Given the description of an element on the screen output the (x, y) to click on. 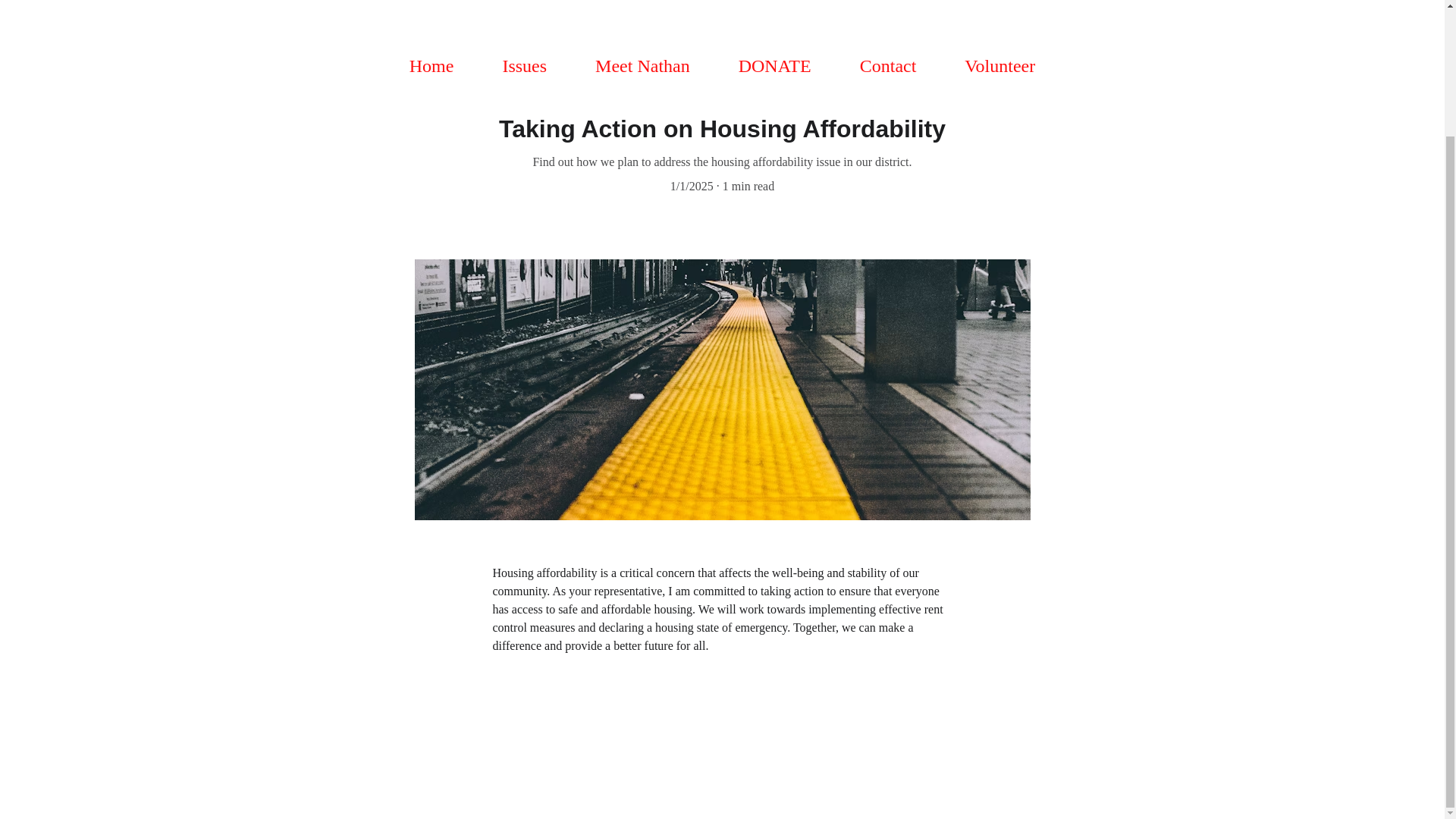
Contact (888, 65)
DONATE (774, 65)
Volunteer (999, 65)
Home (431, 65)
Meet Nathan (642, 65)
Issues (524, 65)
